Given the description of an element on the screen output the (x, y) to click on. 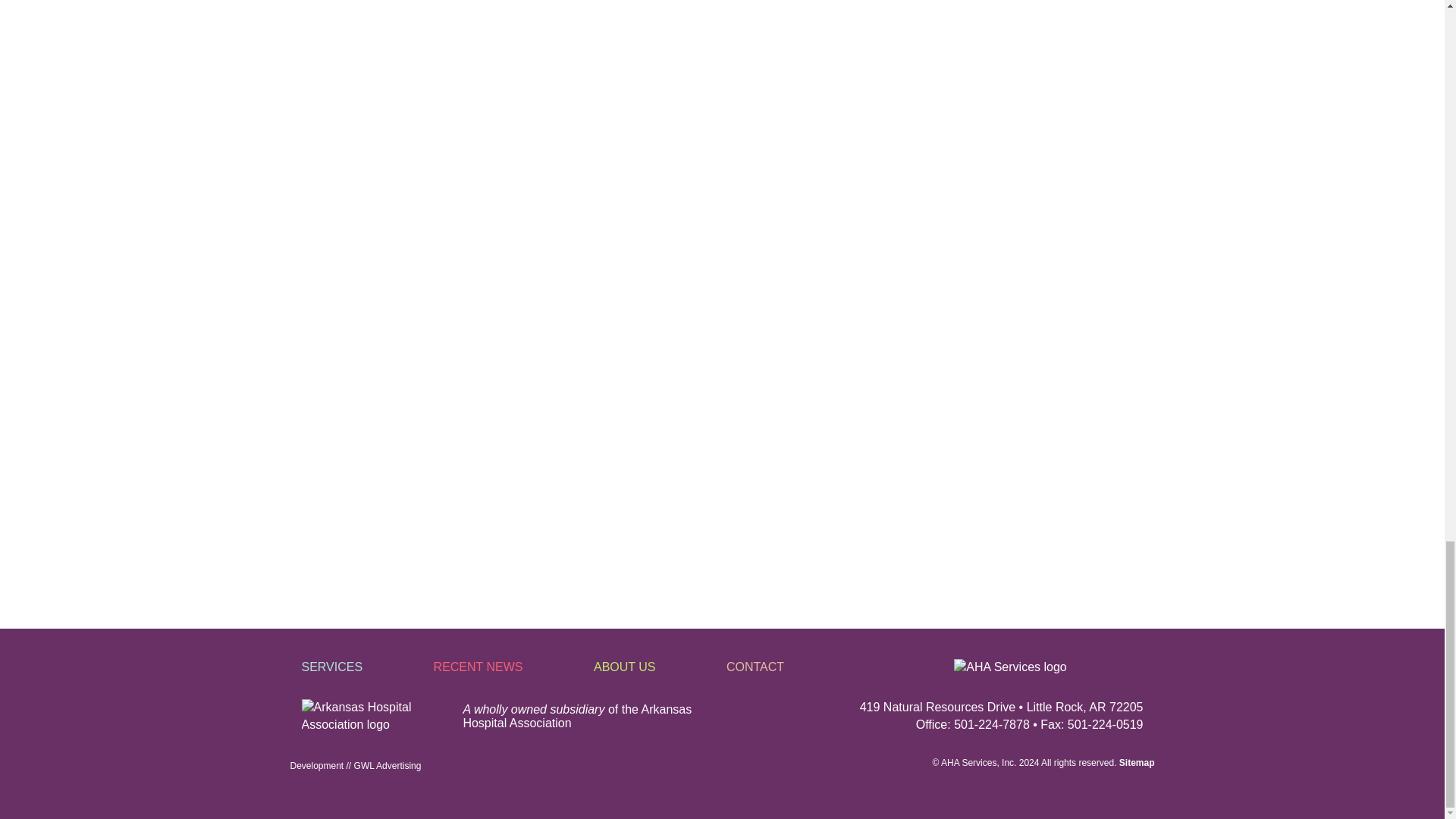
RECENT NEWS (513, 667)
Sitemap (1136, 762)
AHA Services (967, 762)
CONTACT (791, 667)
Arkansas Hospital Association (577, 715)
ABOUT US (660, 667)
SERVICES (367, 667)
